Given the description of an element on the screen output the (x, y) to click on. 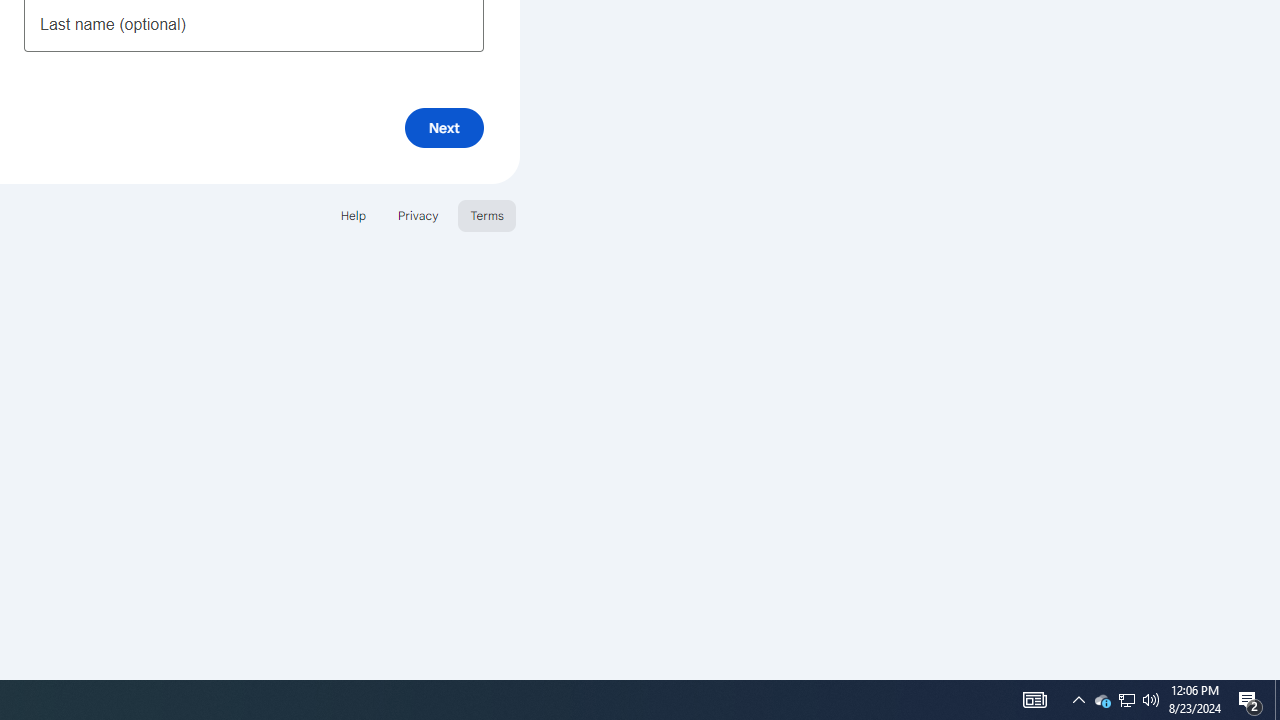
Next (443, 127)
